Given the description of an element on the screen output the (x, y) to click on. 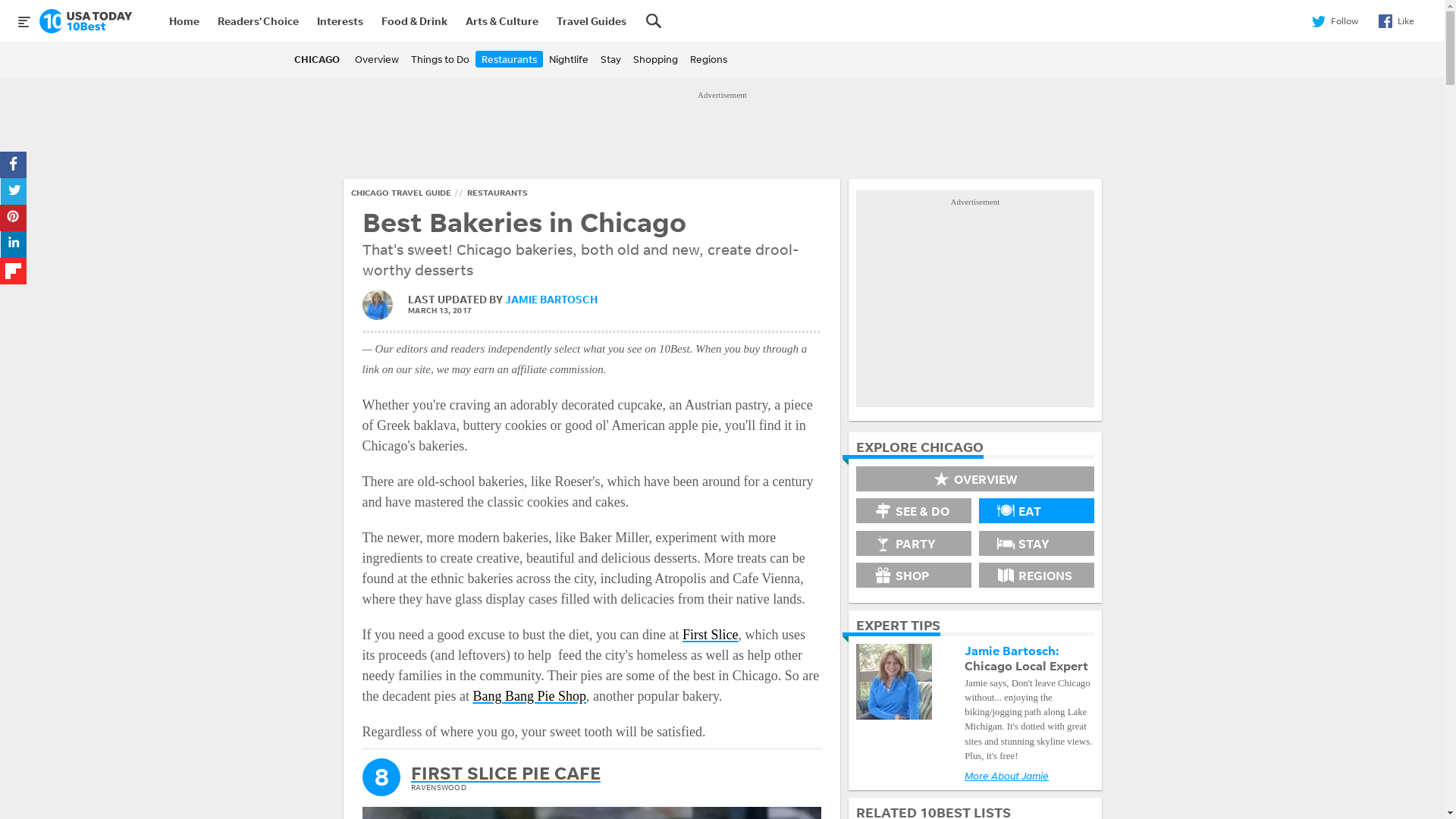
JAMIE BARTOSCH Element type: text (551, 298)
First Slice Element type: text (710, 634)
Interests Element type: text (339, 21)
RESTAURANTS Element type: text (497, 192)
Readers' Choice Element type: text (257, 21)
Regions Element type: text (708, 58)
Home Element type: text (184, 21)
Follow Element type: text (1333, 21)
Like Element type: text (1395, 21)
Jamie Bartosch: Element type: text (1011, 650)
Bang Bang Pie Shop Element type: text (529, 695)
Things to Do Element type: text (439, 58)
Travel Guides Element type: text (591, 21)
Restaurants Element type: text (508, 58)
Food & Drink Element type: text (414, 21)
CHICAGO TRAVEL GUIDE Element type: text (400, 192)
Stay Element type: text (610, 58)
Arts & Culture Element type: text (501, 21)
Shopping Element type: text (655, 58)
Nightlife Element type: text (568, 58)
Overview Element type: text (376, 58)
More About Jamie Element type: text (1006, 774)
FIRST SLICE PIE CAFE Element type: text (505, 772)
